Given the description of an element on the screen output the (x, y) to click on. 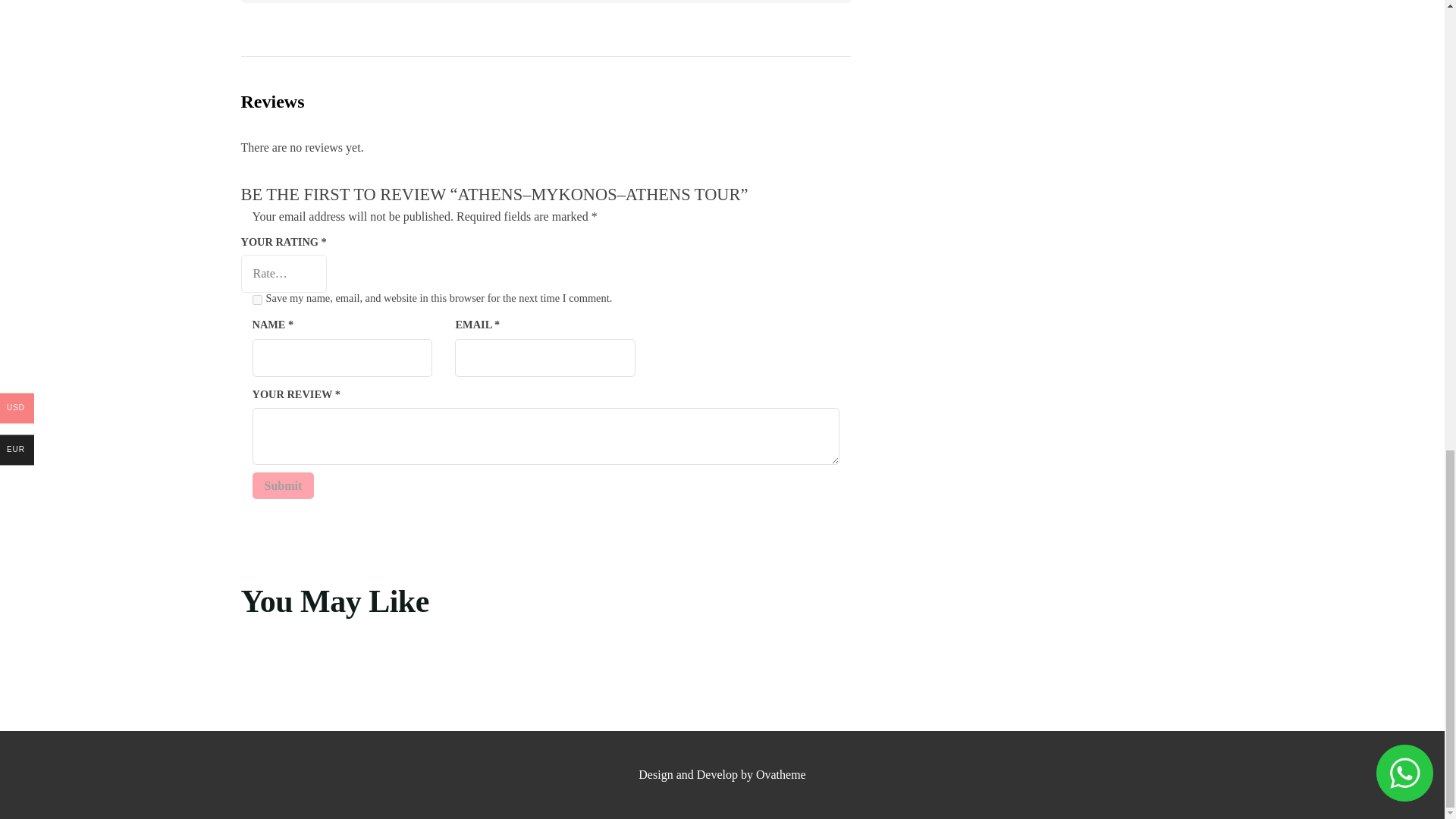
Submit (282, 485)
